Given the description of an element on the screen output the (x, y) to click on. 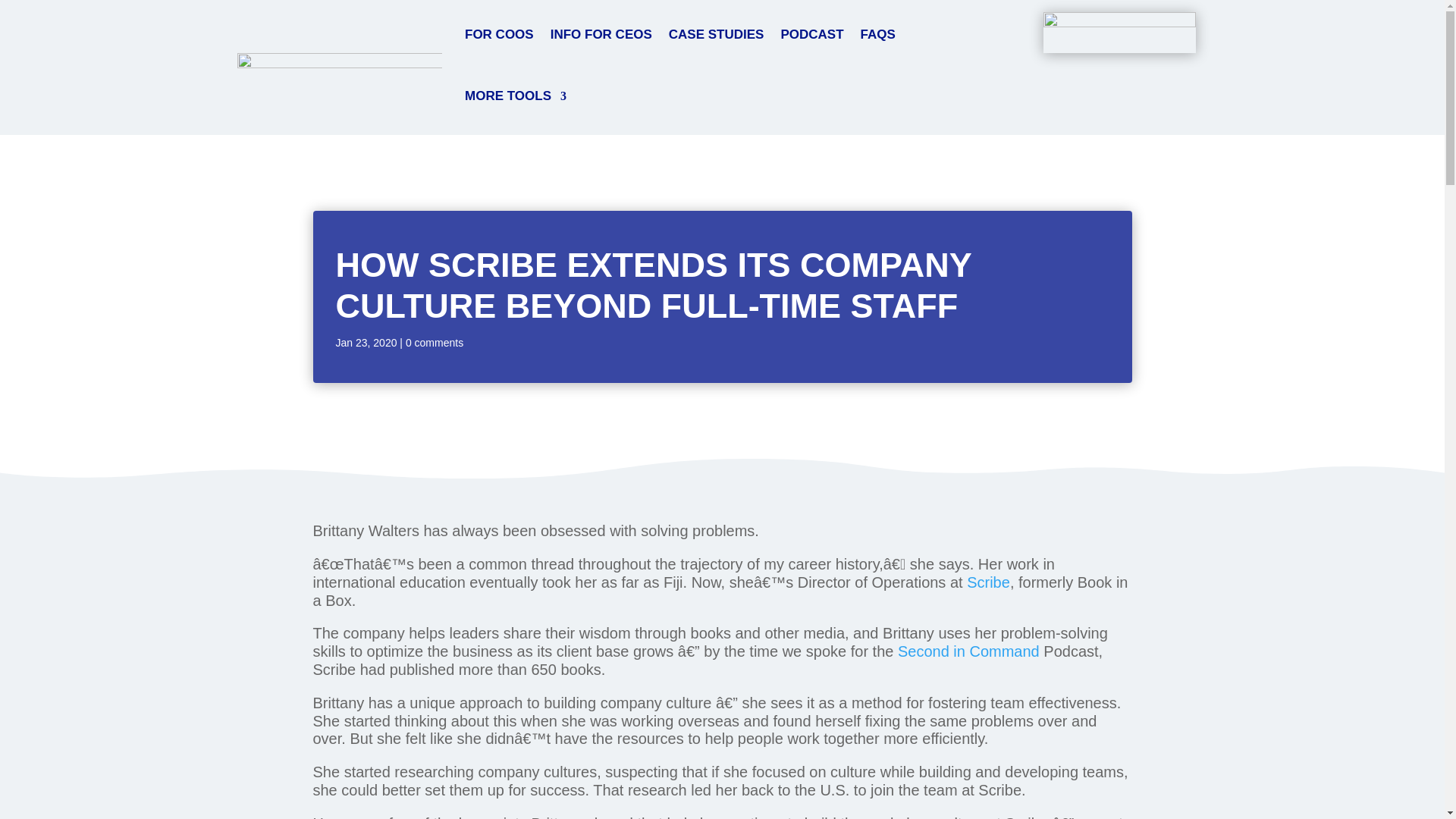
PODCAST (811, 35)
CASE STUDIES (716, 35)
0 comments (434, 342)
Scribe (988, 582)
INFO FOR CEOS (601, 35)
MORE TOOLS (515, 96)
FOR COOS (499, 35)
Second in Command (968, 651)
cooa-book-button-fin-01 (1119, 32)
